Given the description of an element on the screen output the (x, y) to click on. 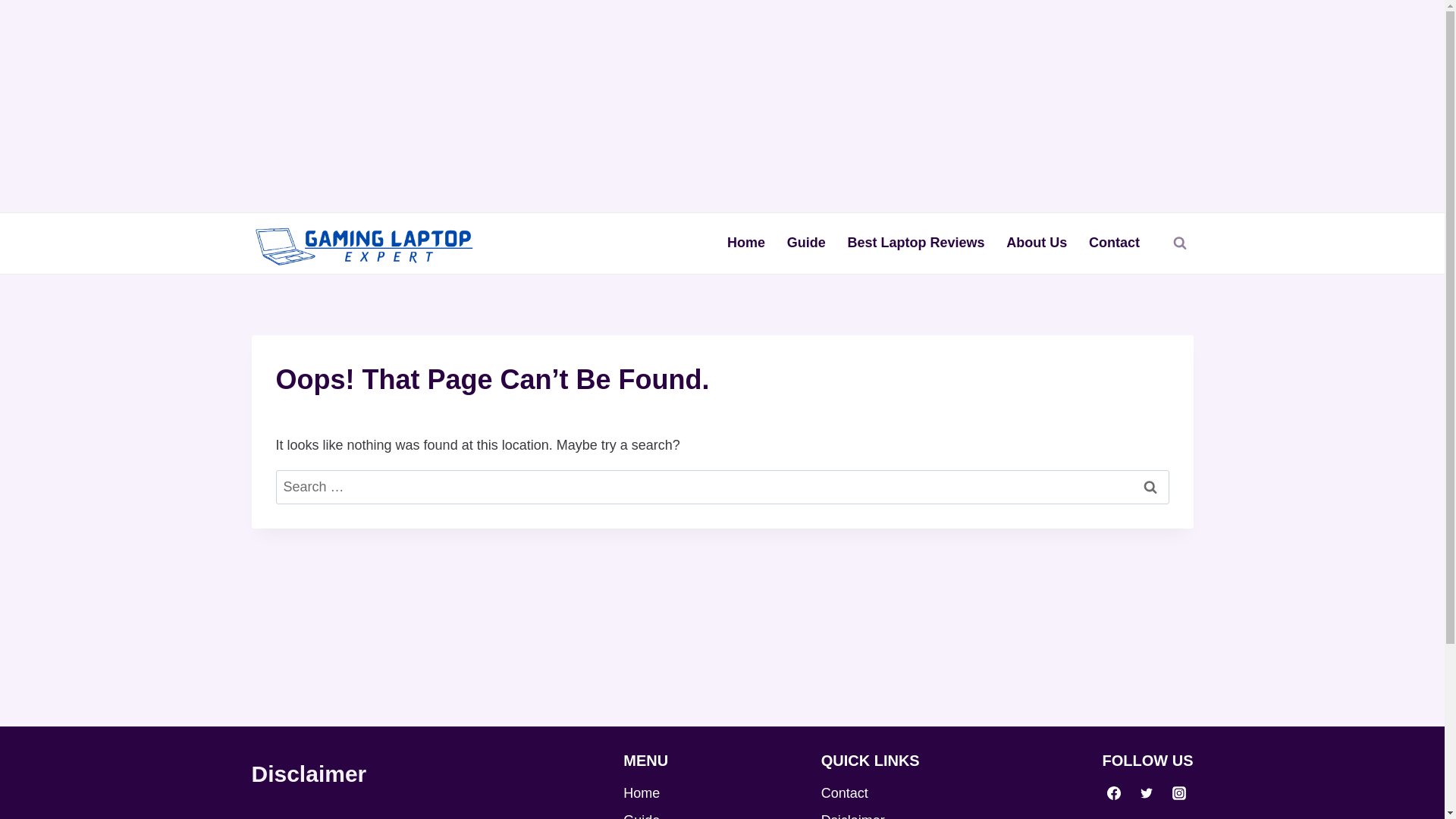
About Us (1036, 242)
Home (710, 792)
Contact (1114, 242)
Guide (710, 812)
Dsiclaimer (908, 812)
Guide (805, 242)
Search (1150, 487)
Search (1150, 487)
Search (1150, 487)
Home (746, 242)
